Given the description of an element on the screen output the (x, y) to click on. 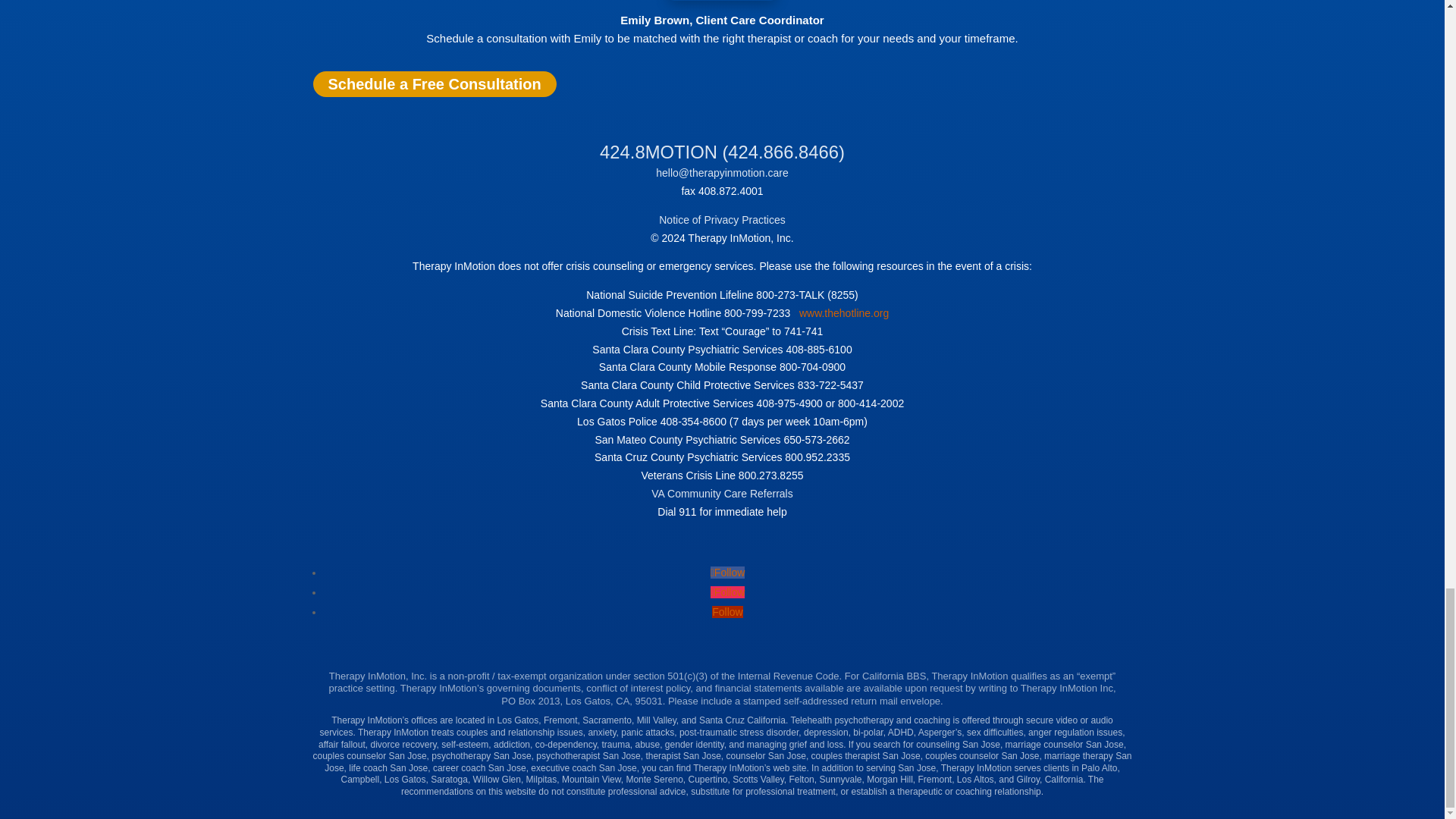
Schedule a Free Consultation (434, 84)
Follow on Facebook (727, 572)
Follow on Youtube (726, 612)
Follow on Instagram (727, 592)
